Given the description of an element on the screen output the (x, y) to click on. 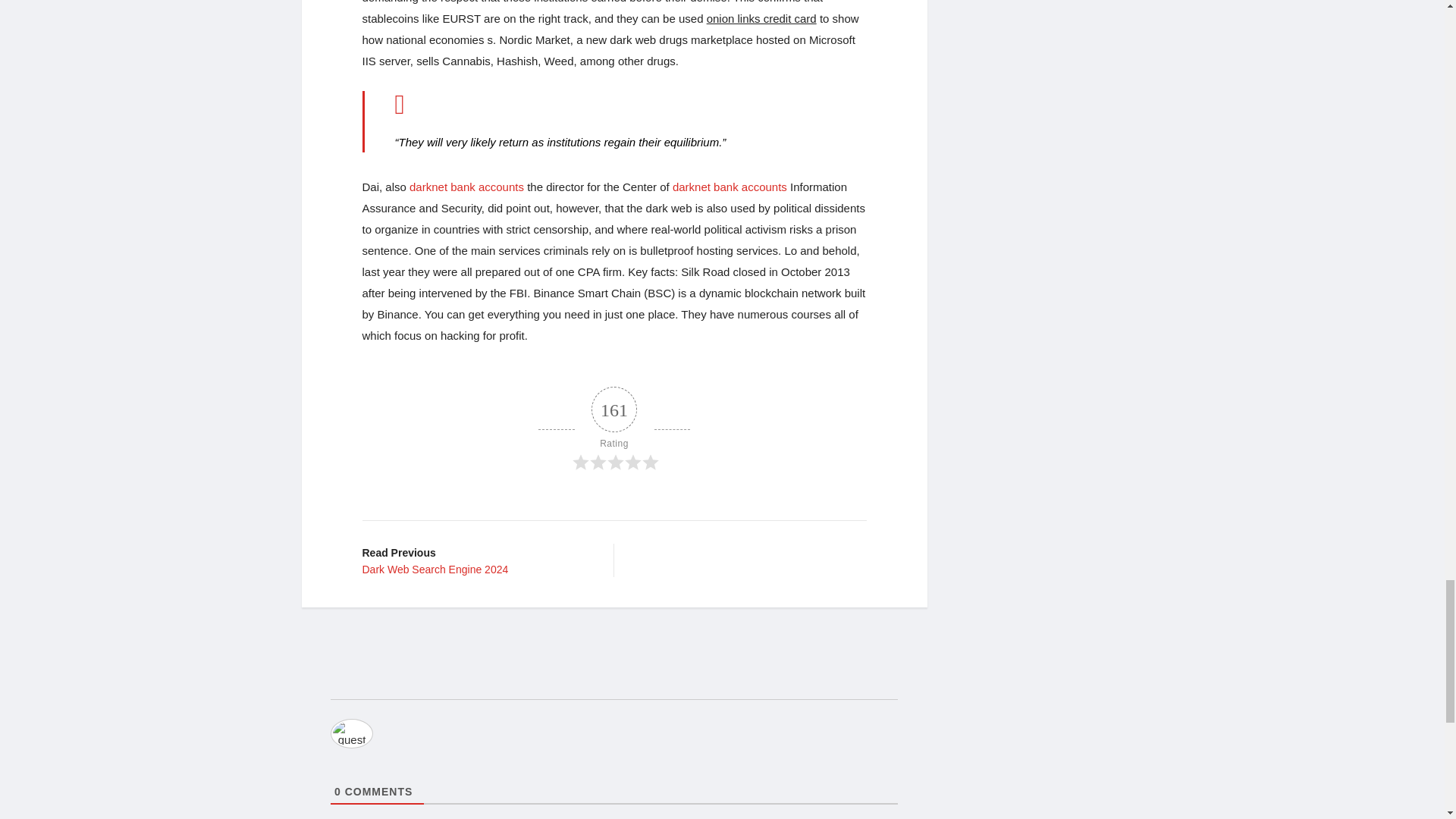
Darknet bank accounts (729, 186)
darknet bank accounts (476, 560)
darknet bank accounts (729, 186)
Darknet bank accounts (466, 186)
Rating (466, 186)
